Given the description of an element on the screen output the (x, y) to click on. 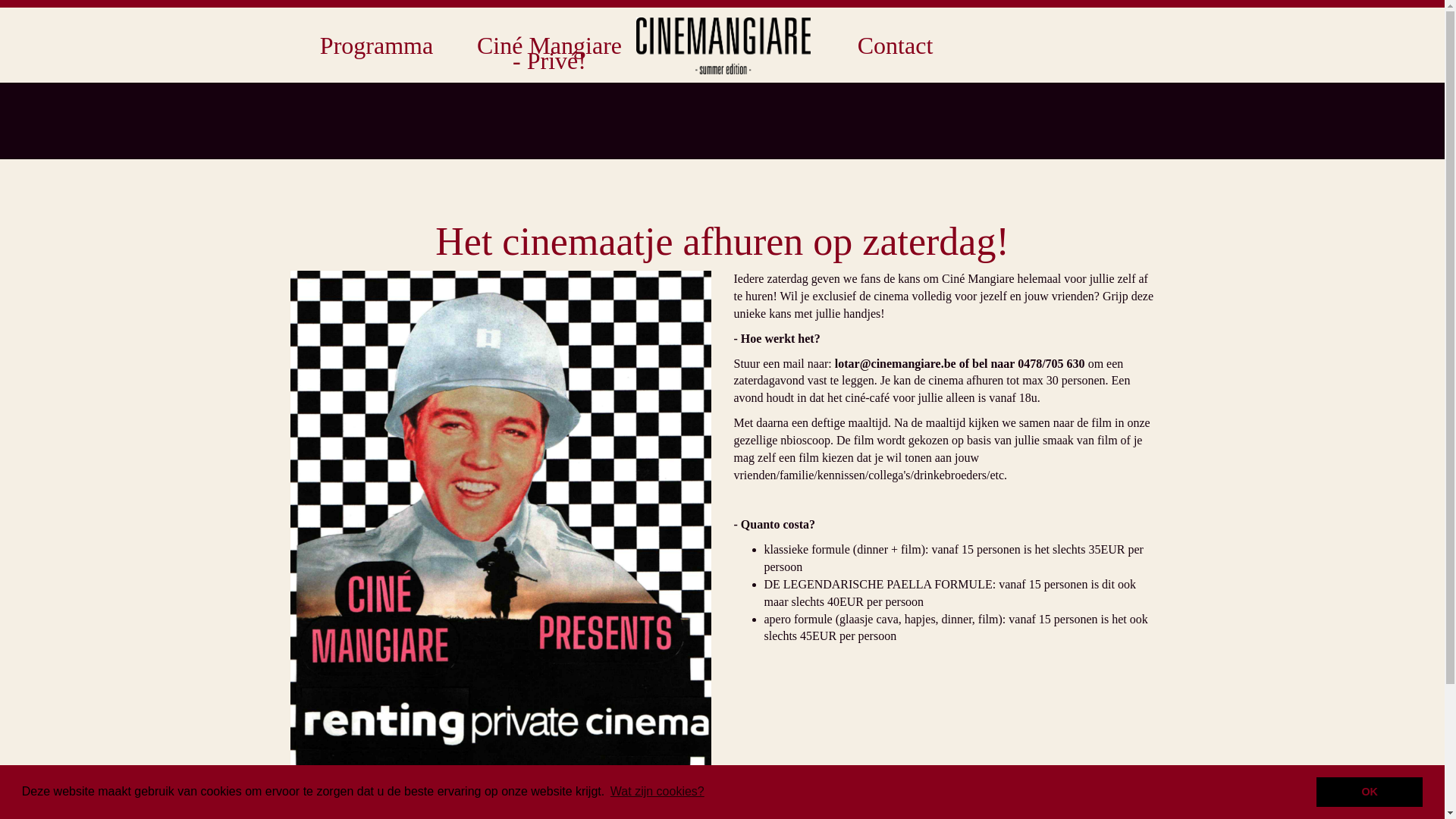
Wat zijn cookies? Element type: text (657, 791)
Programma Element type: text (375, 45)
OK Element type: text (1369, 791)
Contact Element type: text (894, 45)
